Given the description of an element on the screen output the (x, y) to click on. 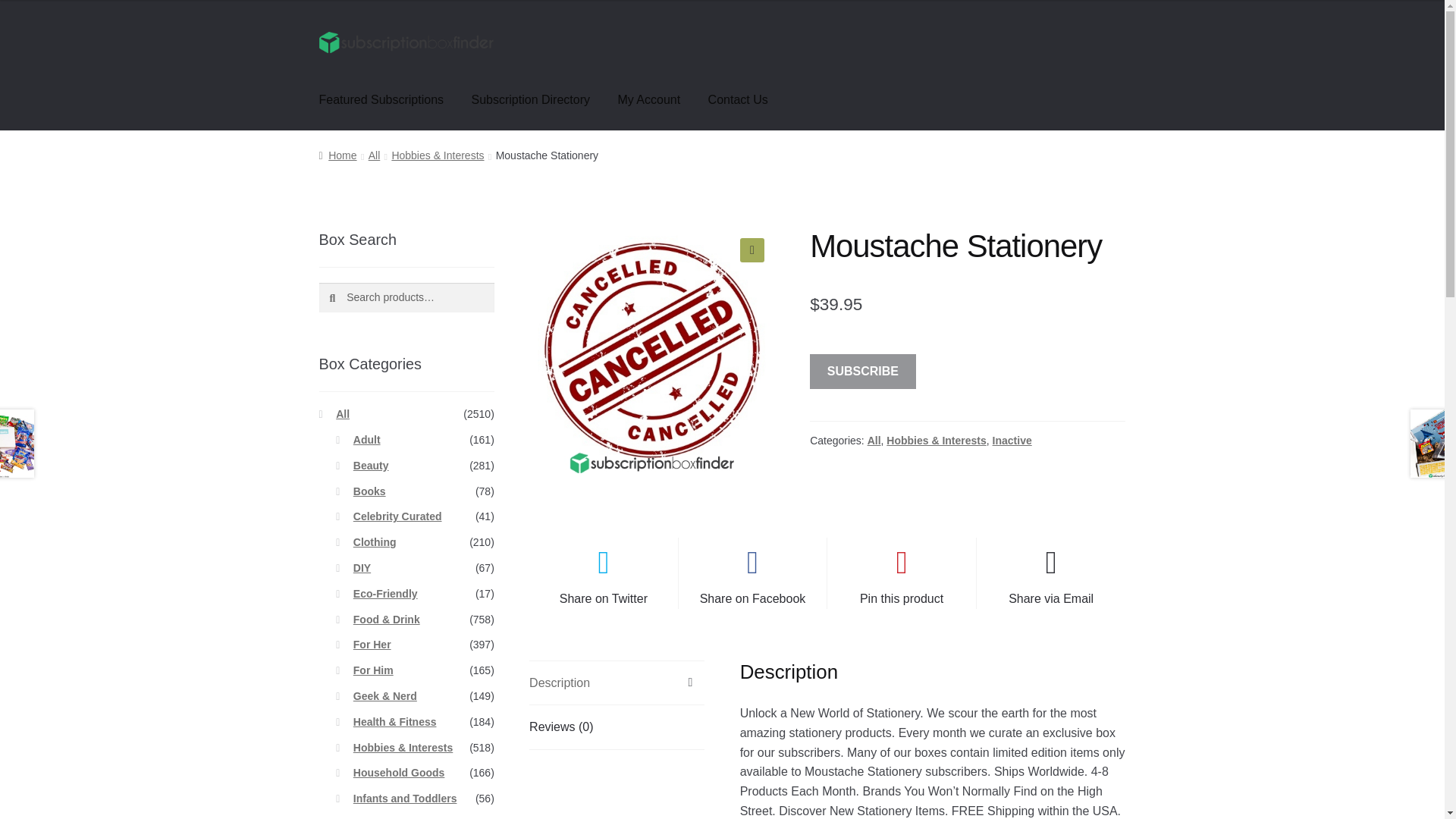
Pin this product (901, 573)
Subscription Directory (531, 99)
Adult (366, 439)
Inactive (1012, 440)
Share on Twitter (603, 573)
Contact Us (737, 99)
All (374, 155)
My Account (649, 99)
Description (616, 682)
All (873, 440)
